Given the description of an element on the screen output the (x, y) to click on. 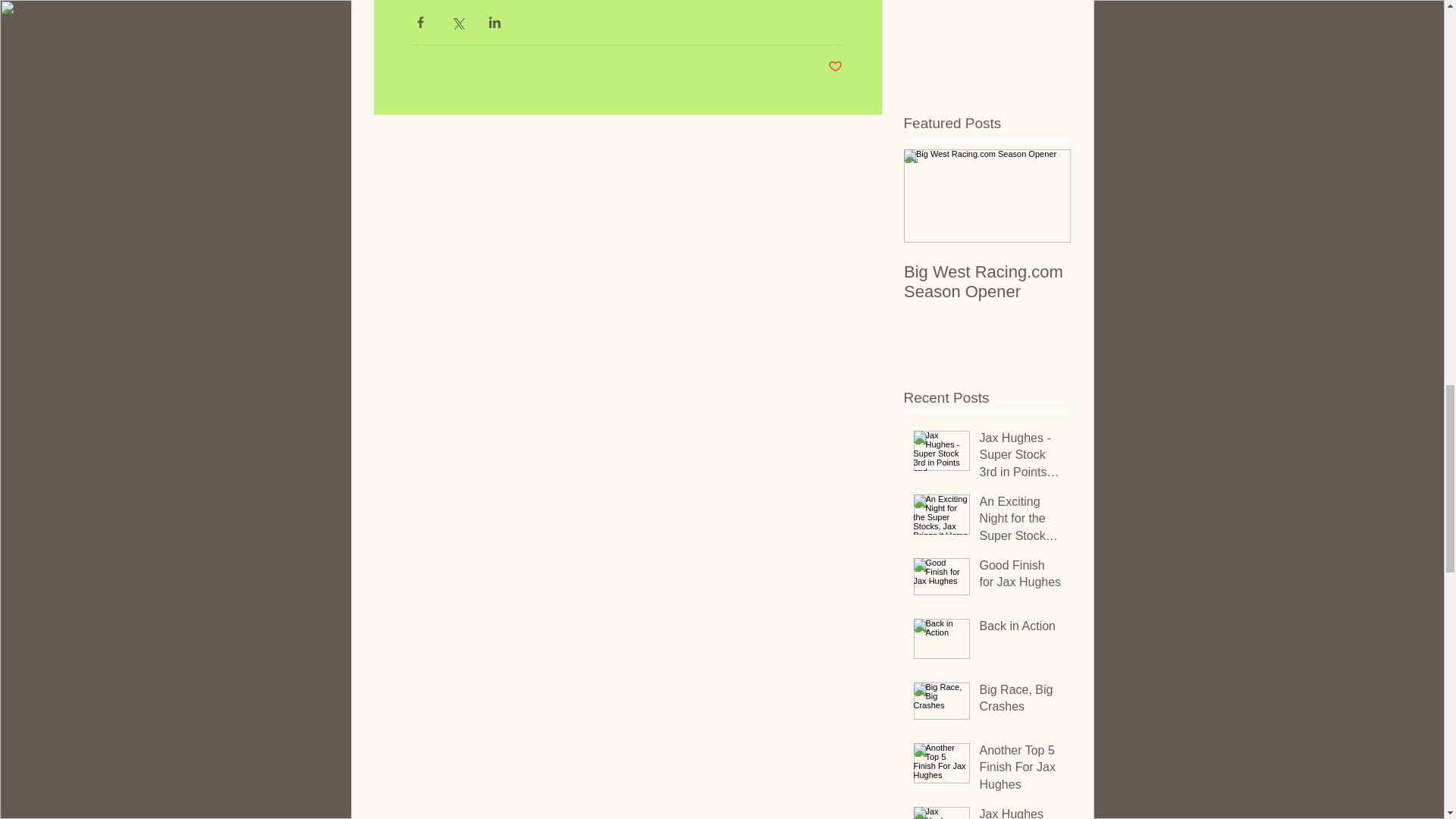
Post not marked as liked (835, 66)
Big West Racing.com Season Opener (987, 282)
Good Finish for Jax Hughes (1020, 577)
Another Top 5 Finish For Jax Hughes (1020, 770)
Back in Action (1020, 629)
Big Race, Big Crashes (1020, 701)
